Given the description of an element on the screen output the (x, y) to click on. 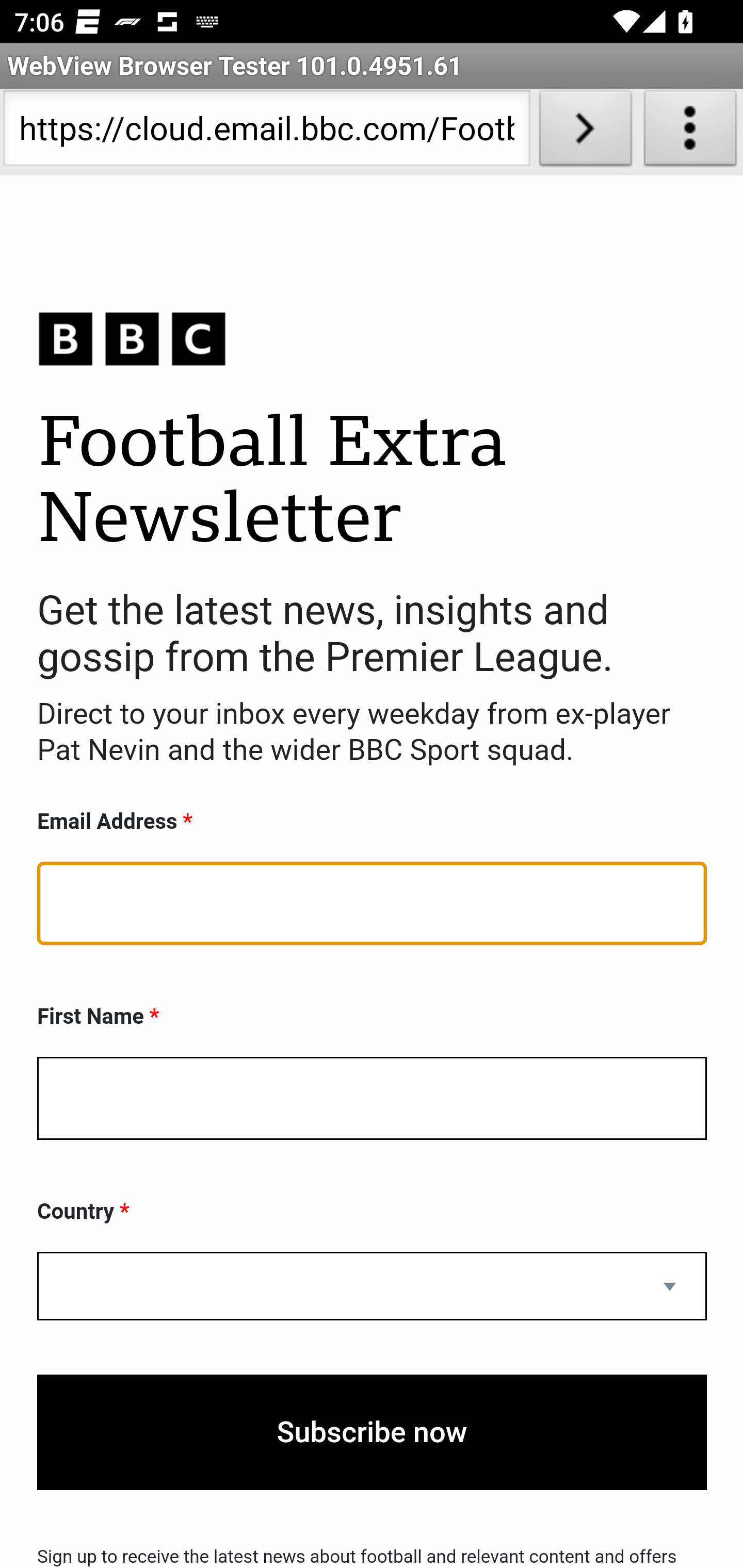
Load URL (585, 132)
About WebView (690, 132)
BBC (372, 338)
Subscribe now (372, 1432)
